Given the description of an element on the screen output the (x, y) to click on. 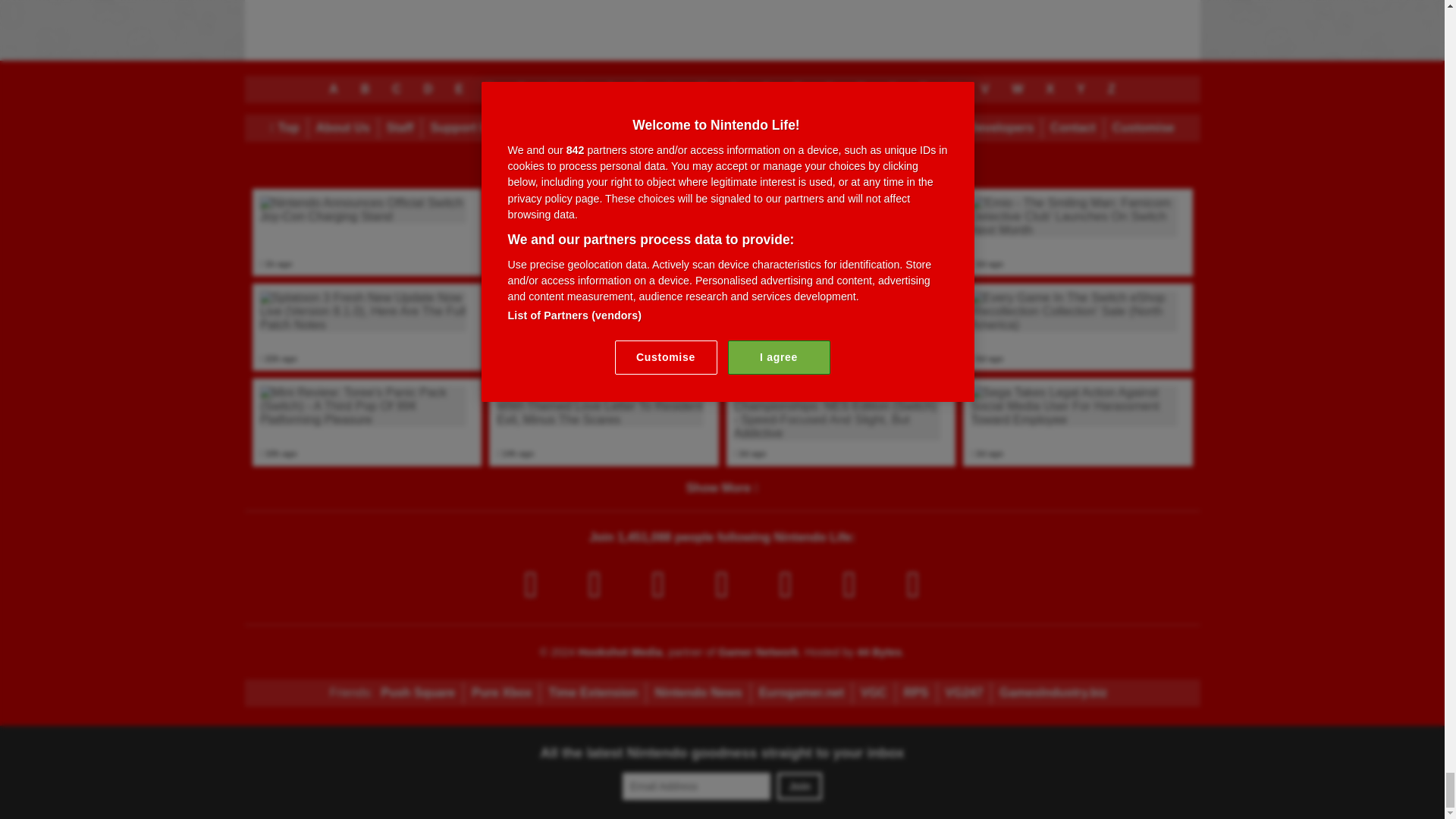
Join (799, 786)
